Given the description of an element on the screen output the (x, y) to click on. 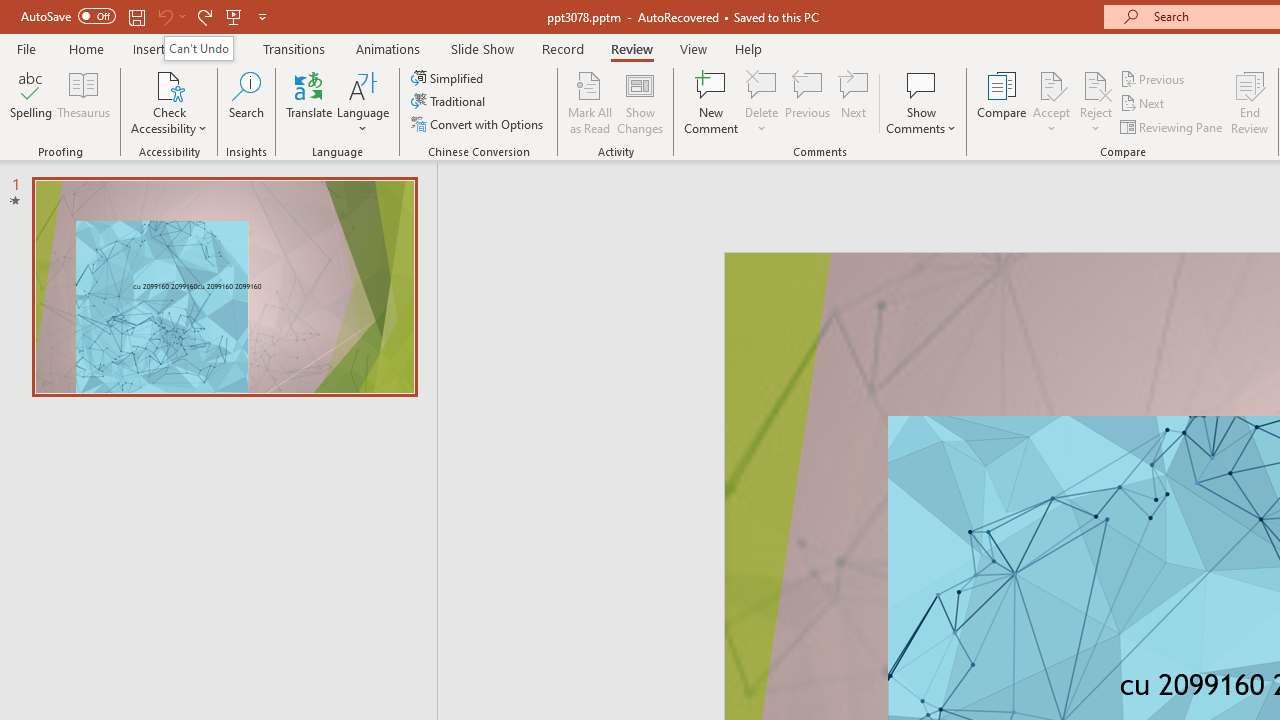
Accept (1051, 102)
Can't Undo (198, 48)
New Comment (711, 102)
